Given the description of an element on the screen output the (x, y) to click on. 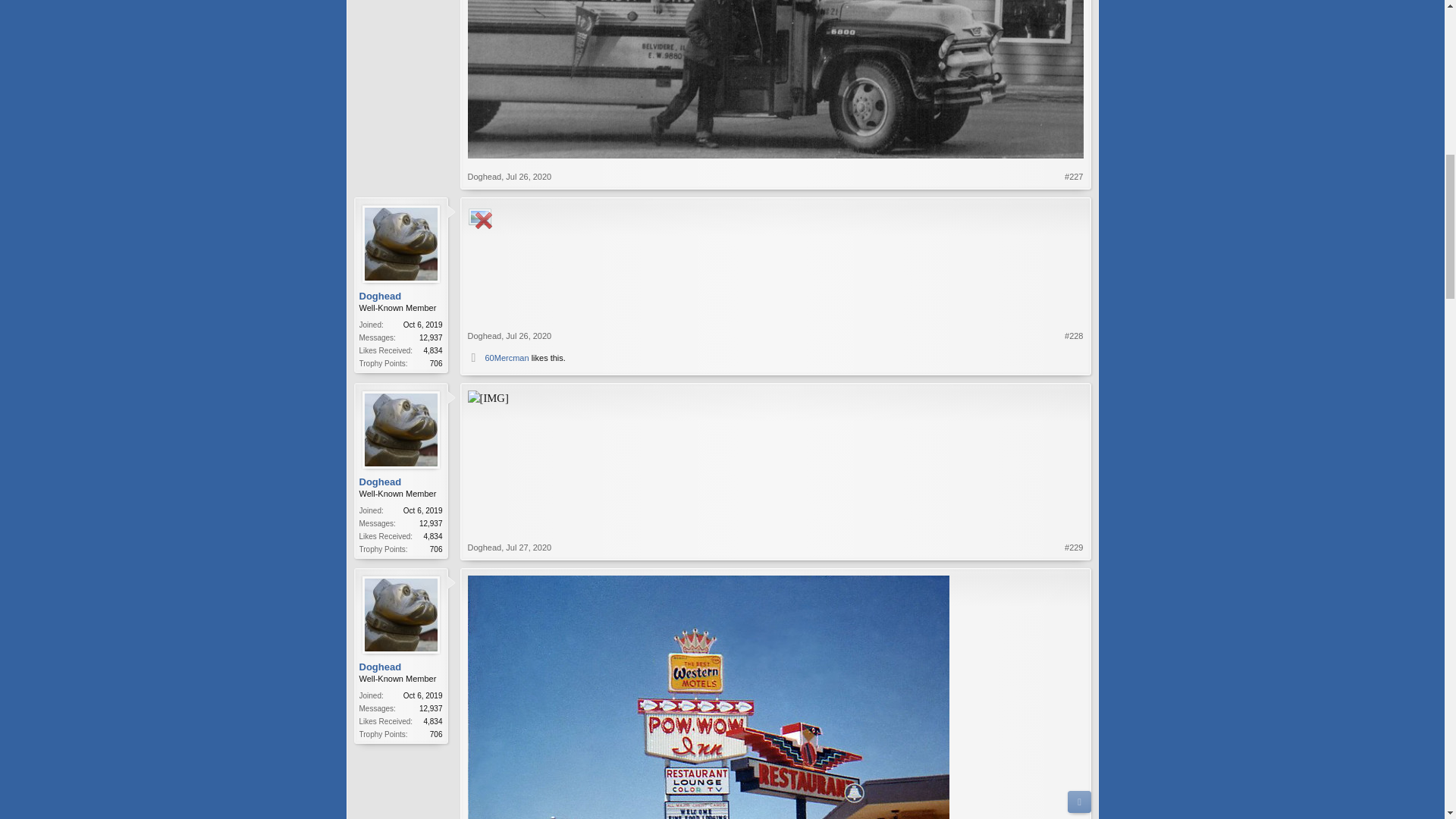
Permalink (1073, 176)
Permalink (528, 175)
